Given the description of an element on the screen output the (x, y) to click on. 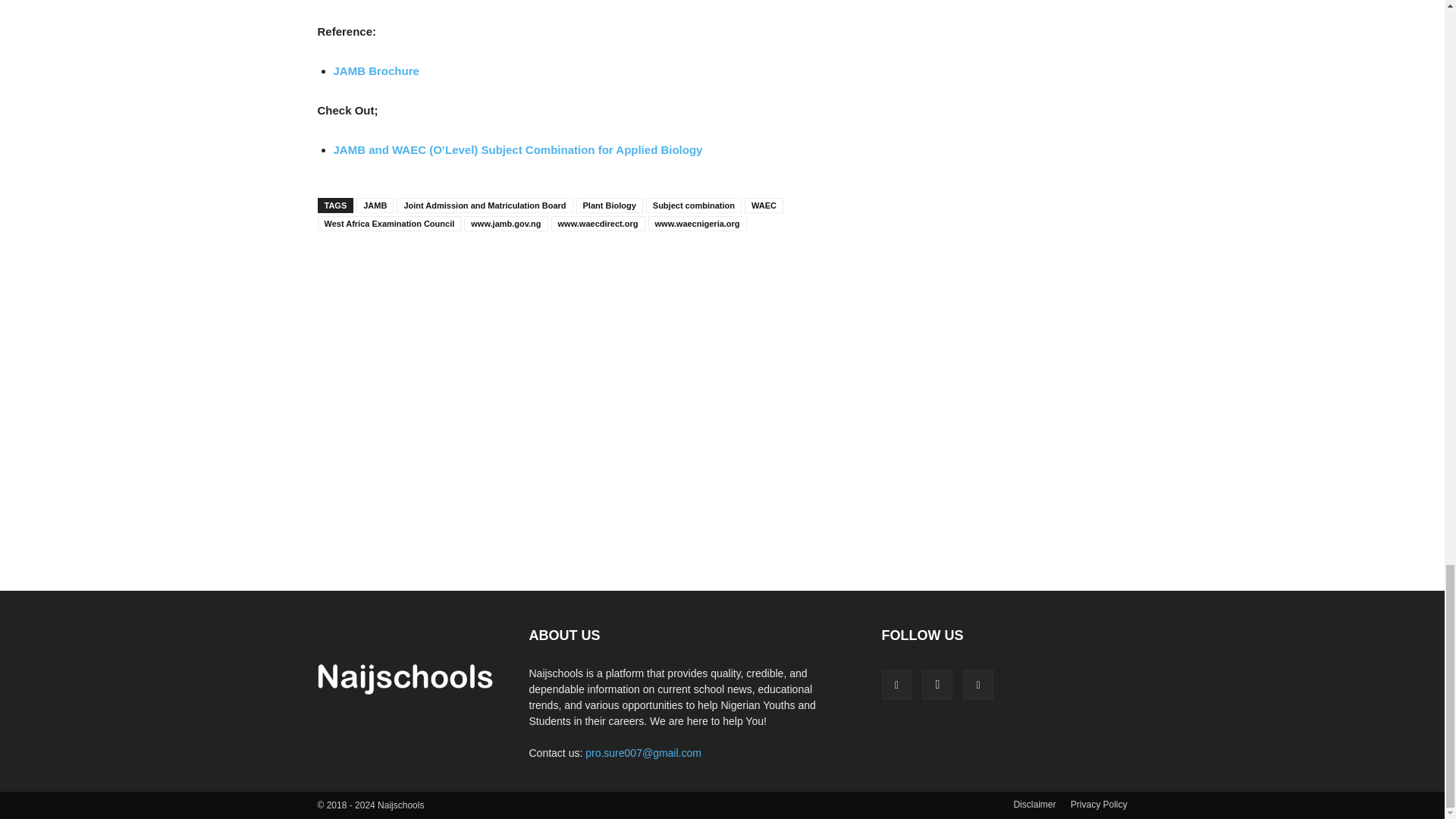
Facebook (895, 684)
Advertisement (721, 298)
